Given the description of an element on the screen output the (x, y) to click on. 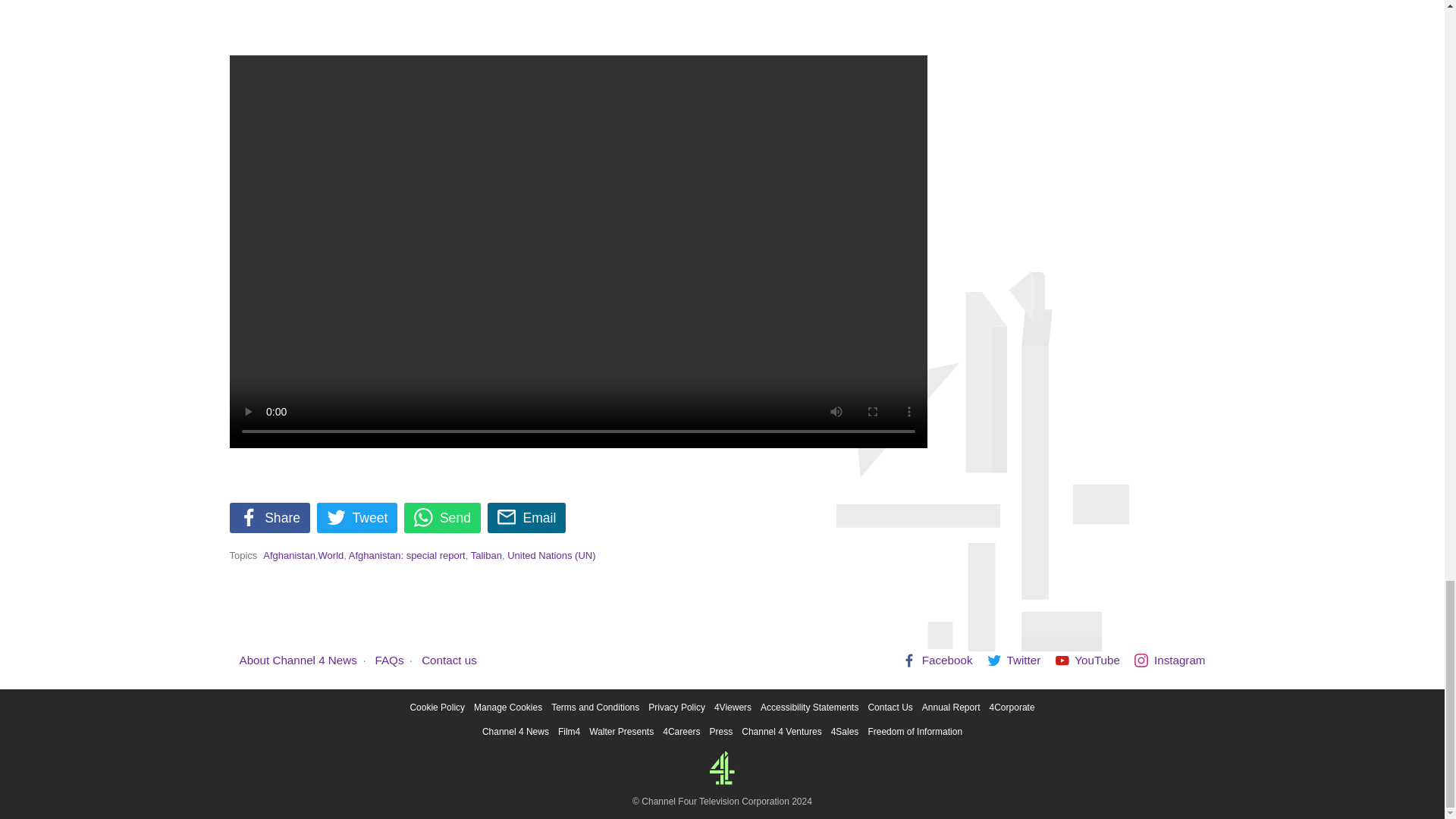
Share (269, 517)
Taliban (486, 555)
Afghanistan (289, 555)
Tweet (357, 517)
Afghanistan: special report (407, 555)
World (330, 555)
Email (526, 517)
FAQs (389, 659)
About Channel 4 News (298, 659)
Send (442, 517)
